Given the description of an element on the screen output the (x, y) to click on. 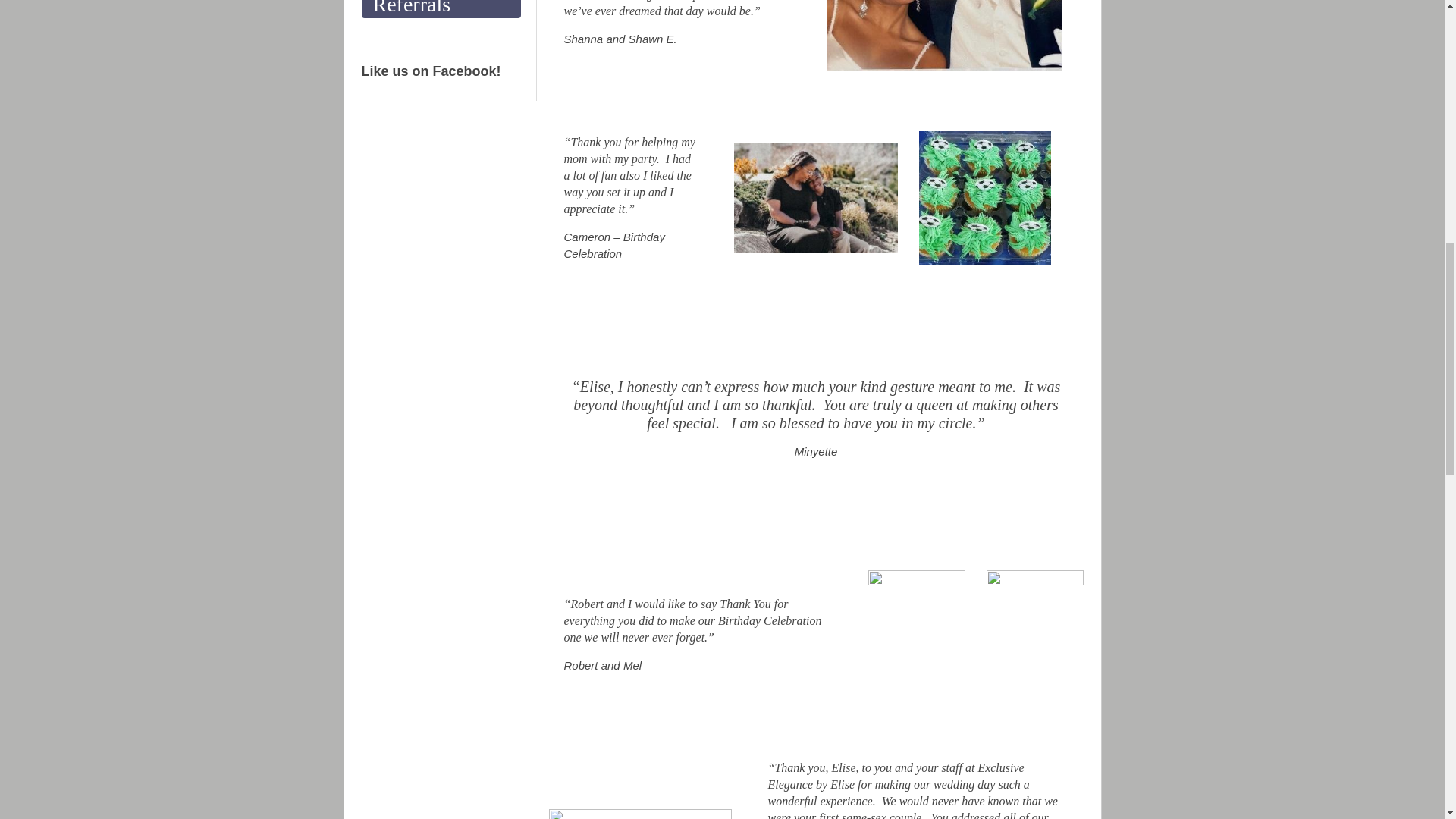
Referrals (440, 9)
